Given the description of an element on the screen output the (x, y) to click on. 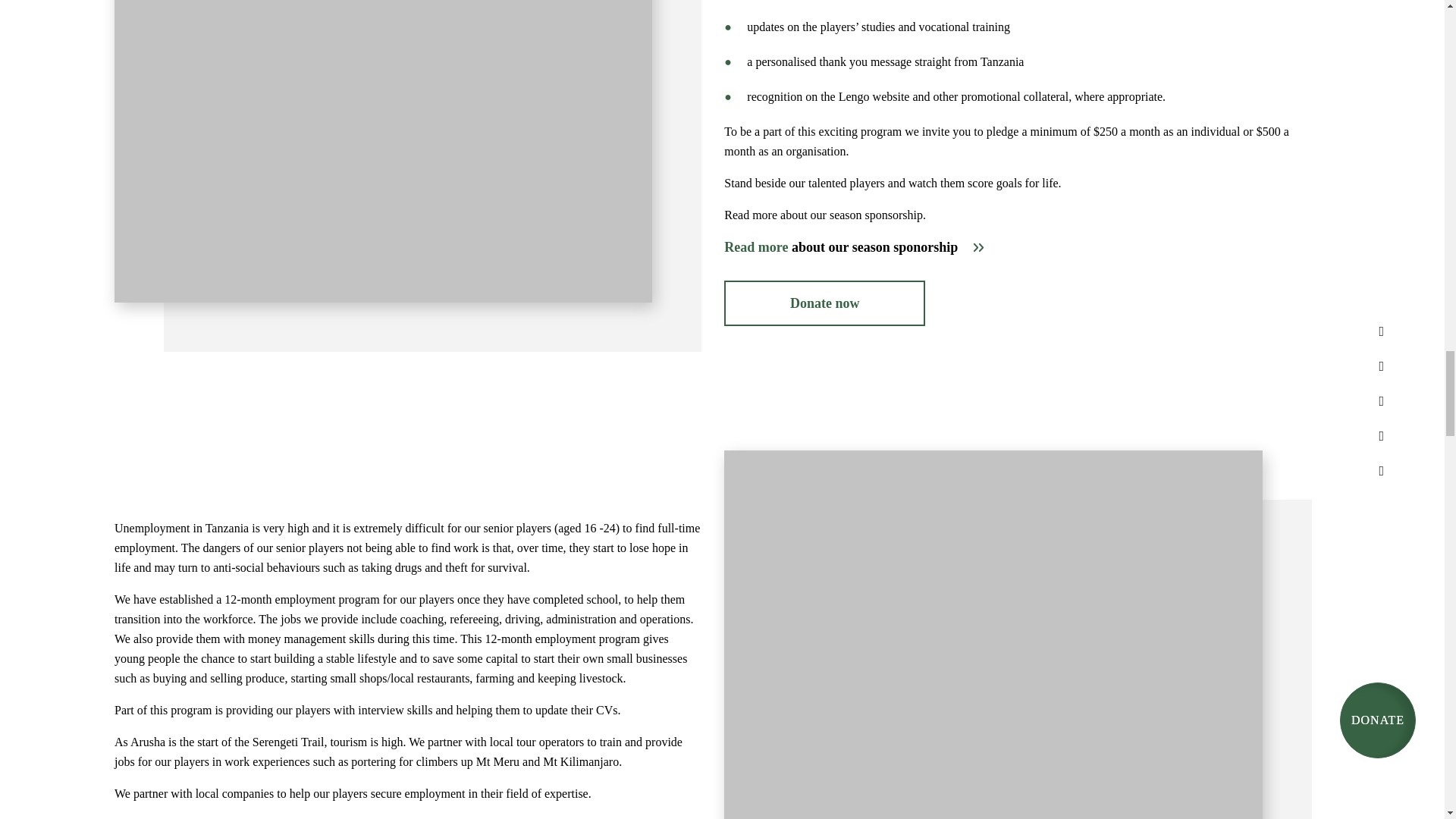
Donate now (823, 302)
Read more about our season sponorship (854, 247)
